Given the description of an element on the screen output the (x, y) to click on. 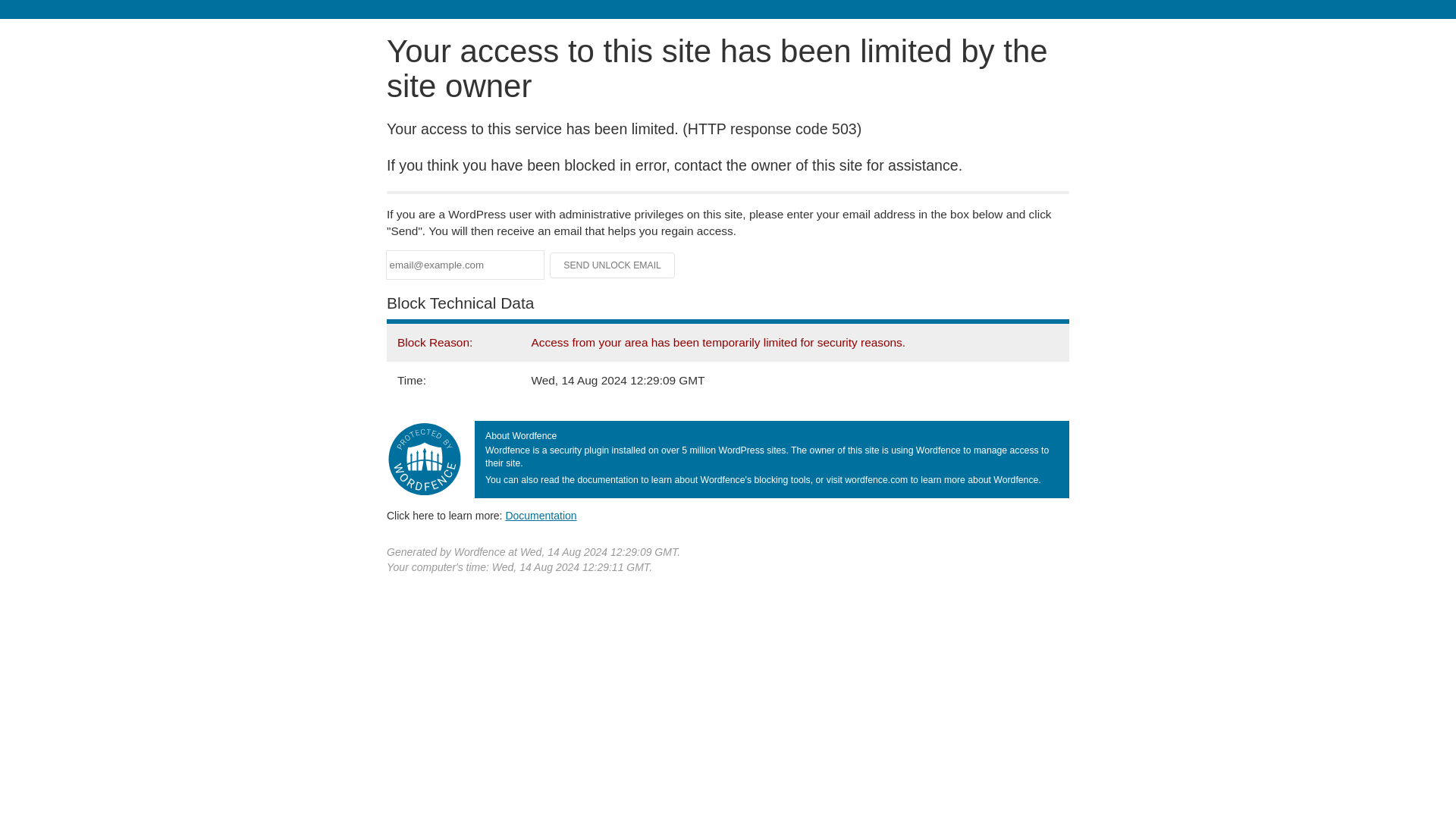
Send Unlock Email (612, 265)
Send Unlock Email (612, 265)
Documentation (540, 515)
